Given the description of an element on the screen output the (x, y) to click on. 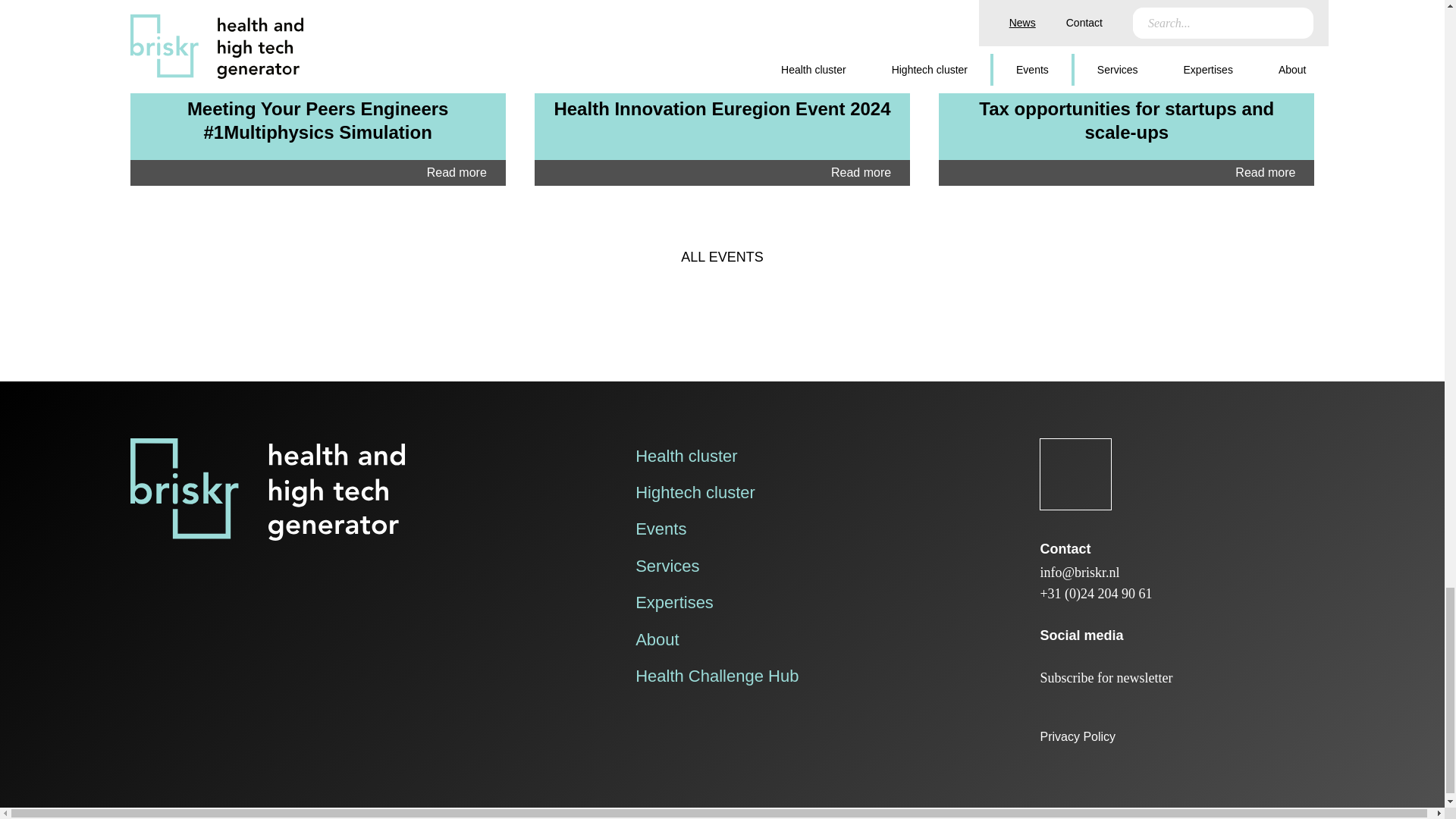
ALL EVENTS (722, 256)
Hightech cluster (694, 492)
Health cluster (686, 456)
Events (659, 528)
About (656, 639)
Subscribe for newsletter (1105, 677)
Expertises (673, 601)
Health Challenge Hub (715, 675)
Services (666, 565)
